Given the description of an element on the screen output the (x, y) to click on. 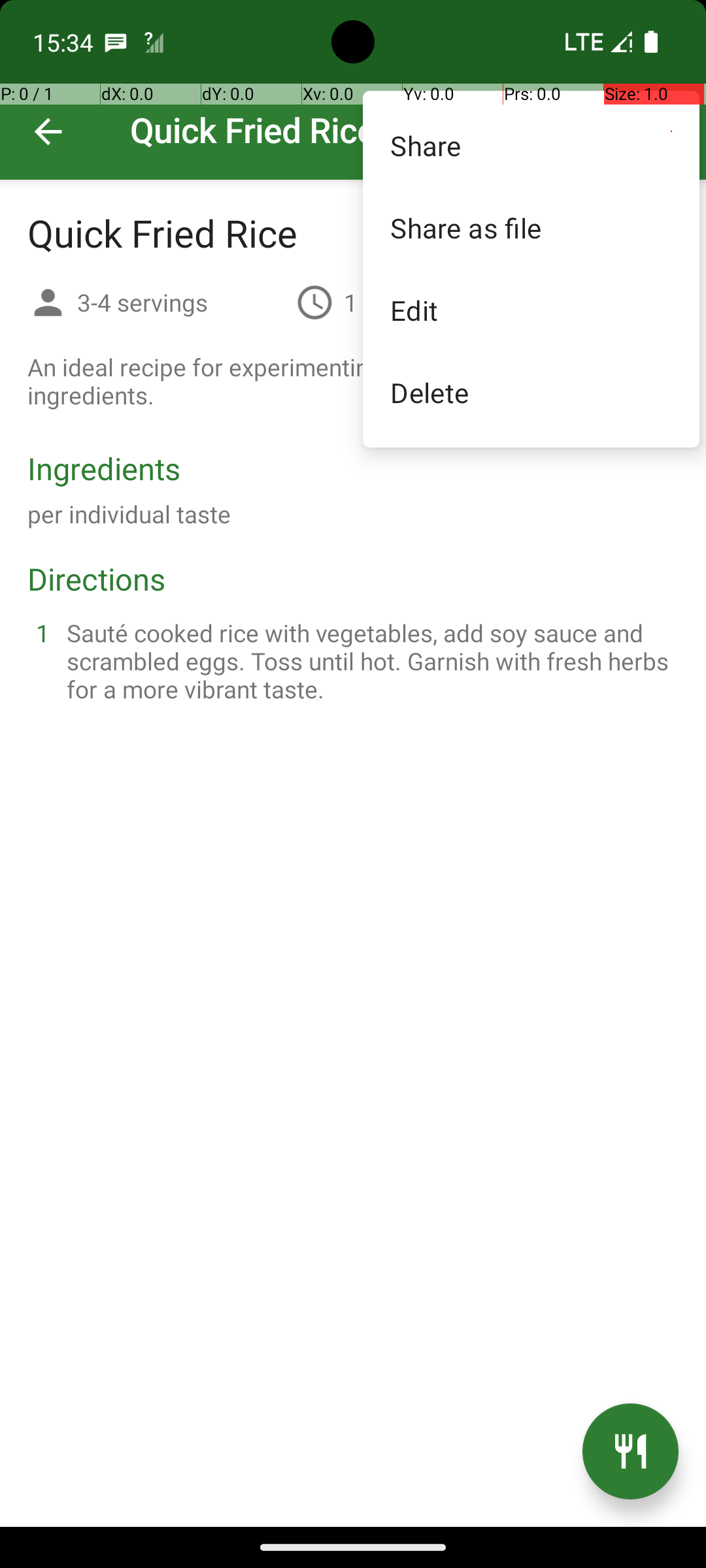
Share as file Element type: android.widget.TextView (531, 227)
